Given the description of an element on the screen output the (x, y) to click on. 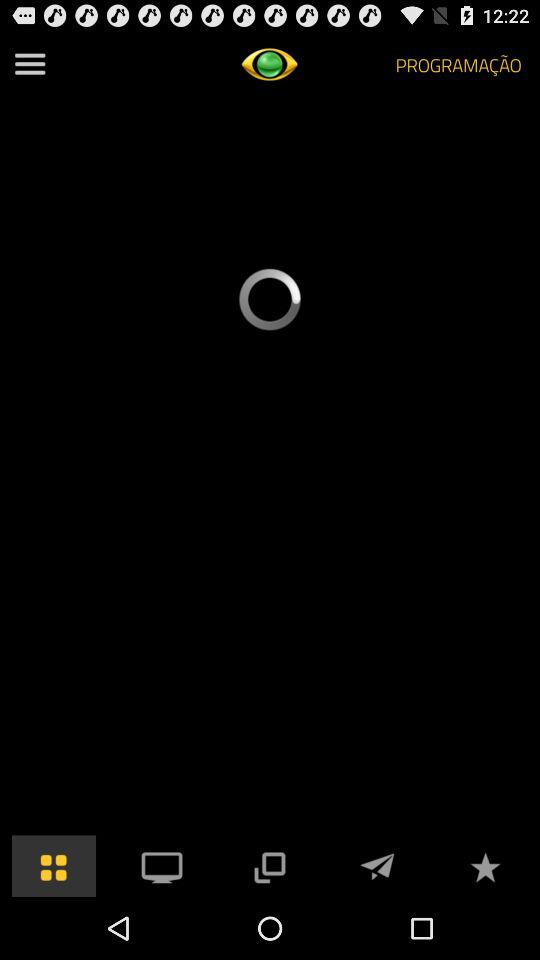
bring up icons (54, 865)
